Given the description of an element on the screen output the (x, y) to click on. 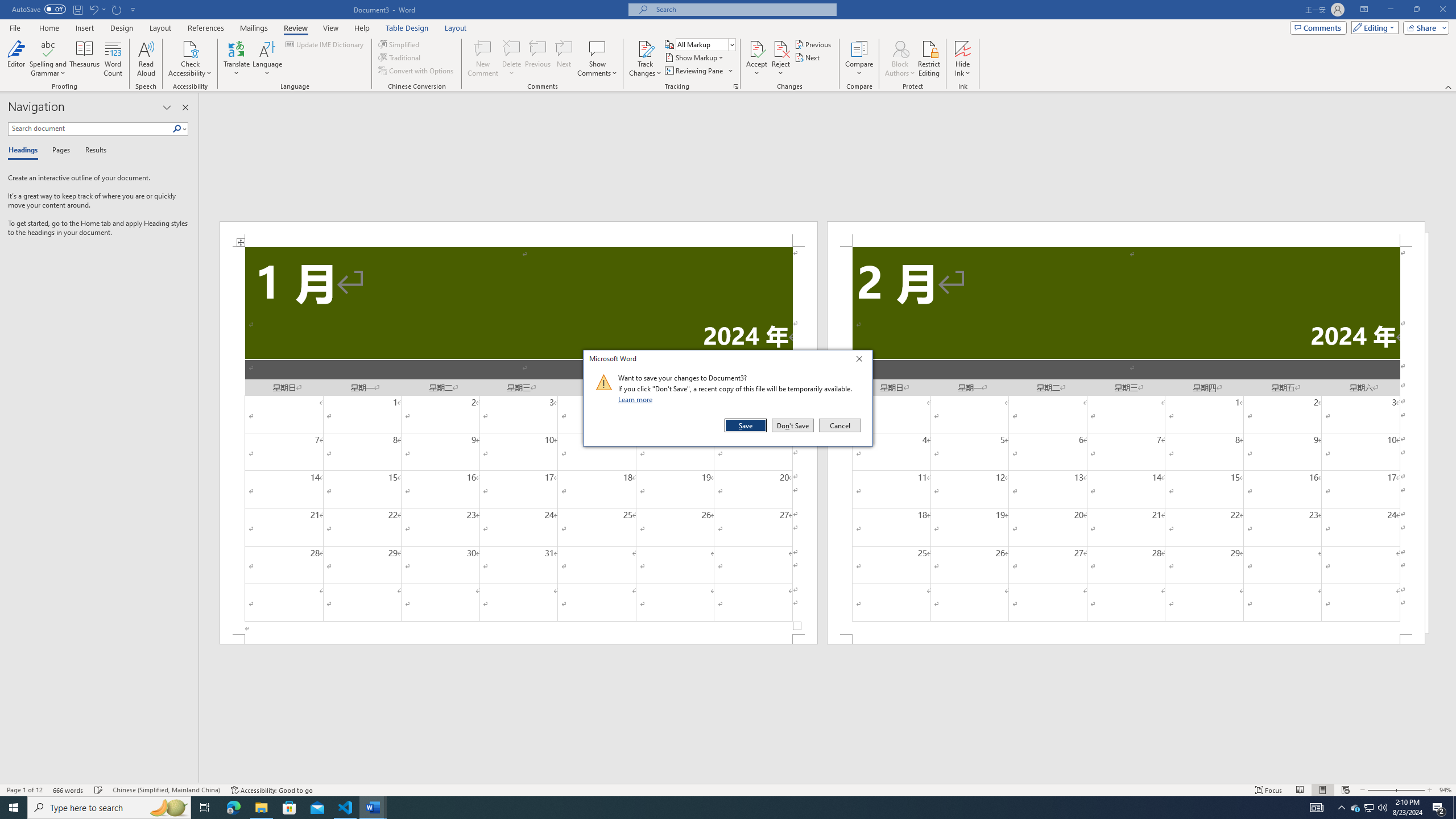
Results (91, 150)
Block Authors (900, 58)
Accessibility Checker Accessibility: Good to go (271, 790)
Word - 2 running windows (373, 807)
Track Changes (1368, 807)
Learn more (644, 48)
Pages (636, 399)
Track Changes (59, 150)
Delete (644, 58)
Restrict Editing (511, 58)
Word Count 666 words (929, 58)
